Given the description of an element on the screen output the (x, y) to click on. 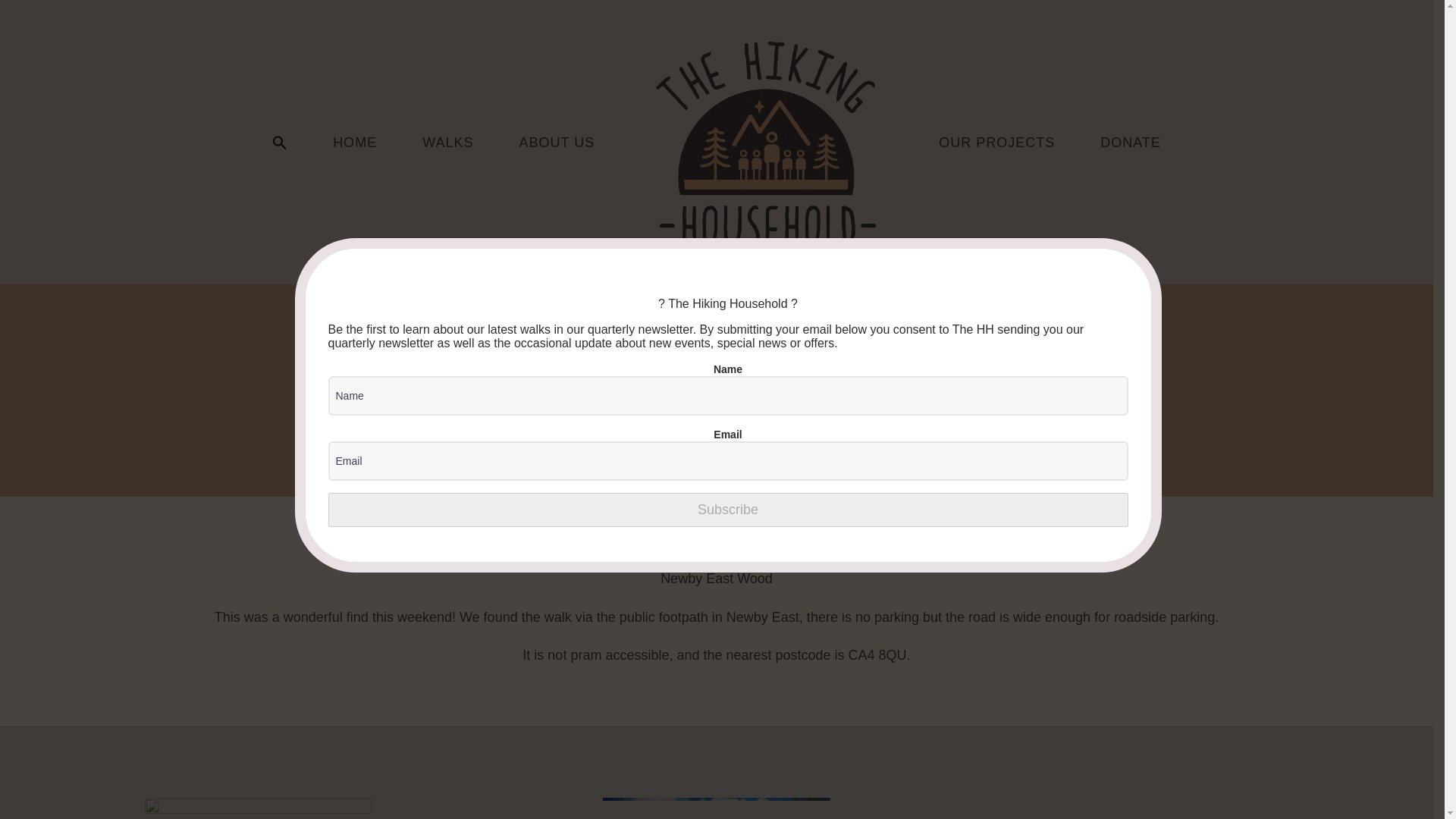
2675BB23-A283-4833-A856-24239C26CF3C (258, 808)
ABOUT US (556, 141)
OUR PROJECTS (996, 141)
HOME (355, 141)
2F28078D-67D7-4DAE-AF7D-CF724E186F1B (1174, 807)
DONATE (1130, 141)
51753924-5CDE-41F4-A70F-916392978659 (715, 808)
WALKS (447, 141)
